Given the description of an element on the screen output the (x, y) to click on. 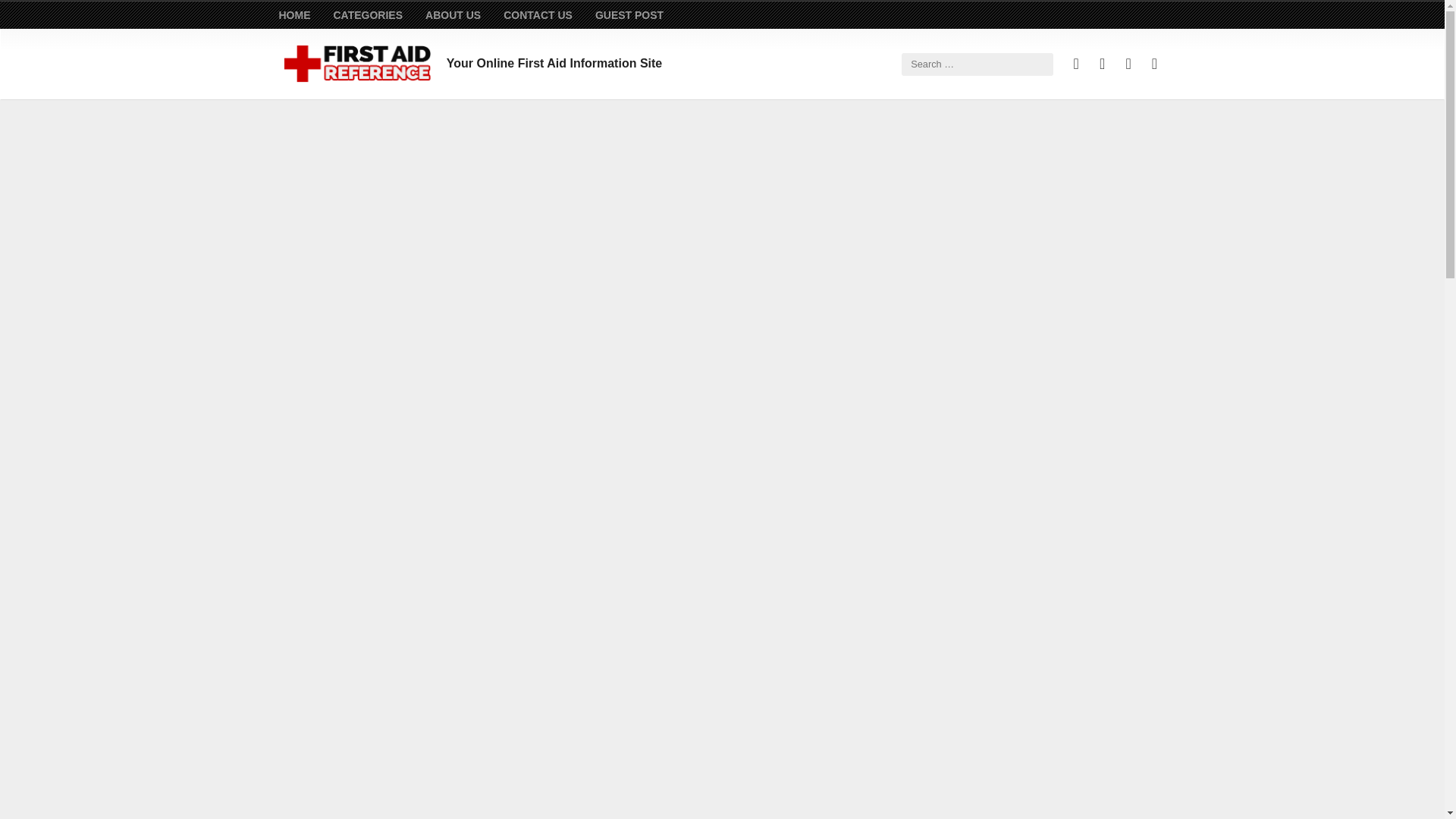
pinterest (1075, 63)
twitter (1128, 63)
RSS (1154, 63)
facebook (1101, 63)
CONTACT US (537, 14)
Search (1118, 139)
ABOUT US (452, 14)
CATEGORIES (368, 14)
HOME (295, 14)
Search (37, 17)
